Given the description of an element on the screen output the (x, y) to click on. 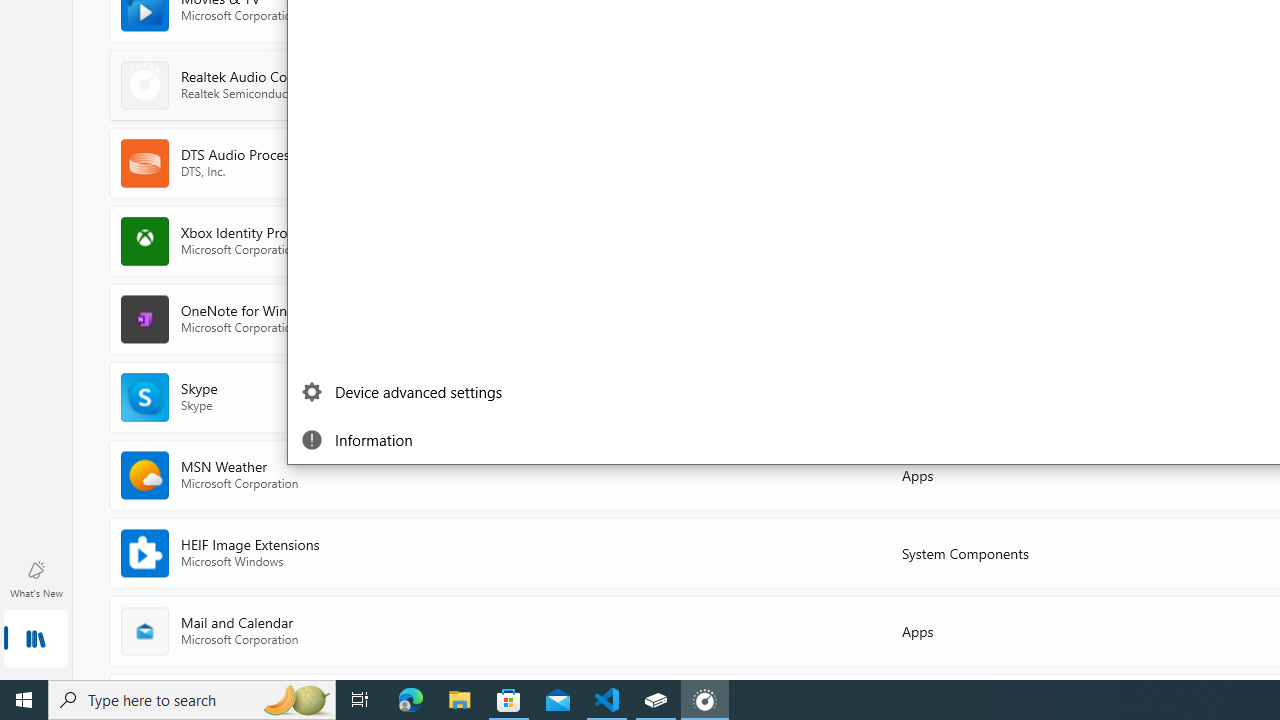
Microsoft Store - 1 running window (509, 699)
